Given the description of an element on the screen output the (x, y) to click on. 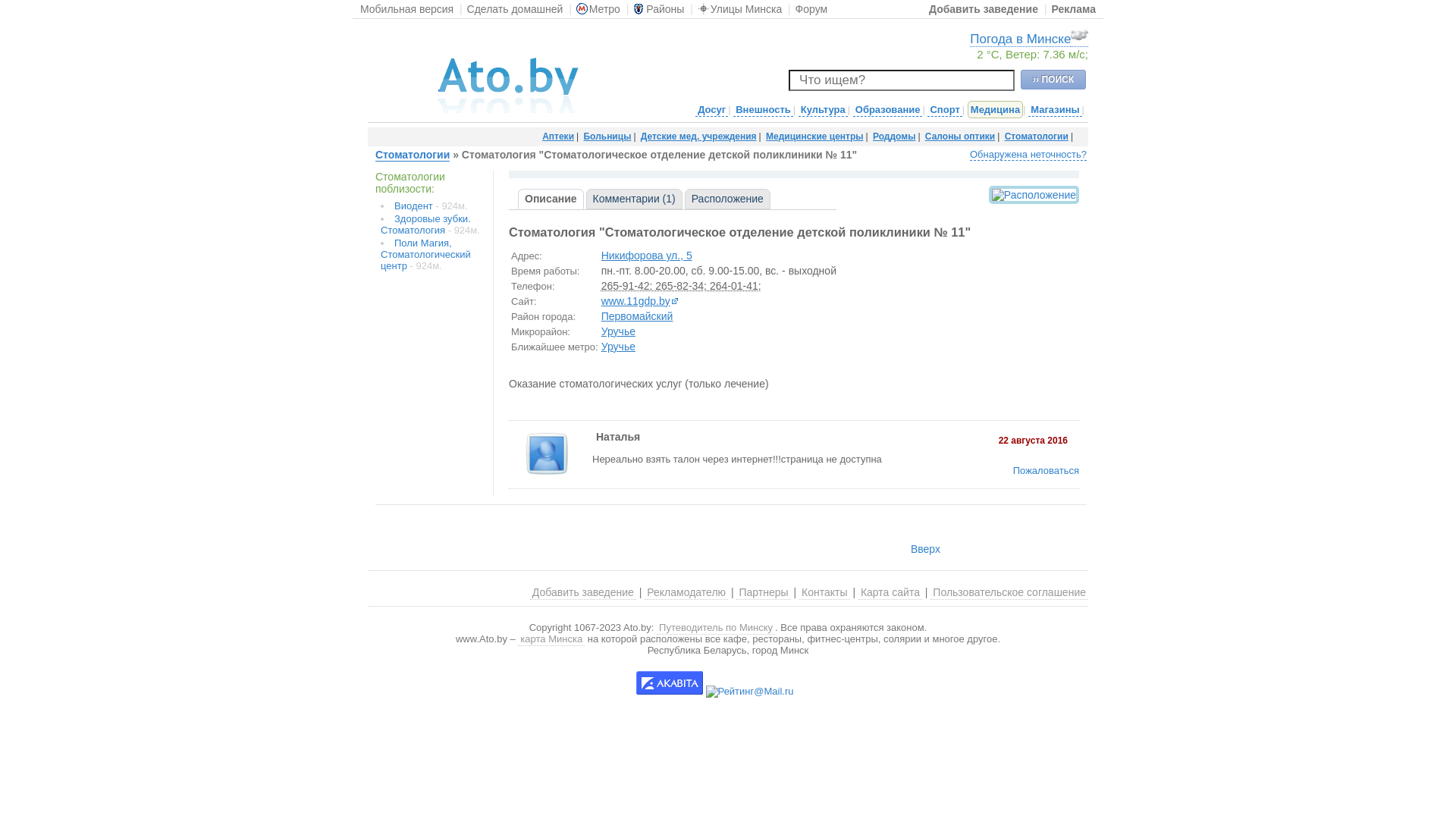
www.11gdp.by Element type: text (639, 300)
LiveInternet Element type: hover (807, 682)
